Given the description of an element on the screen output the (x, y) to click on. 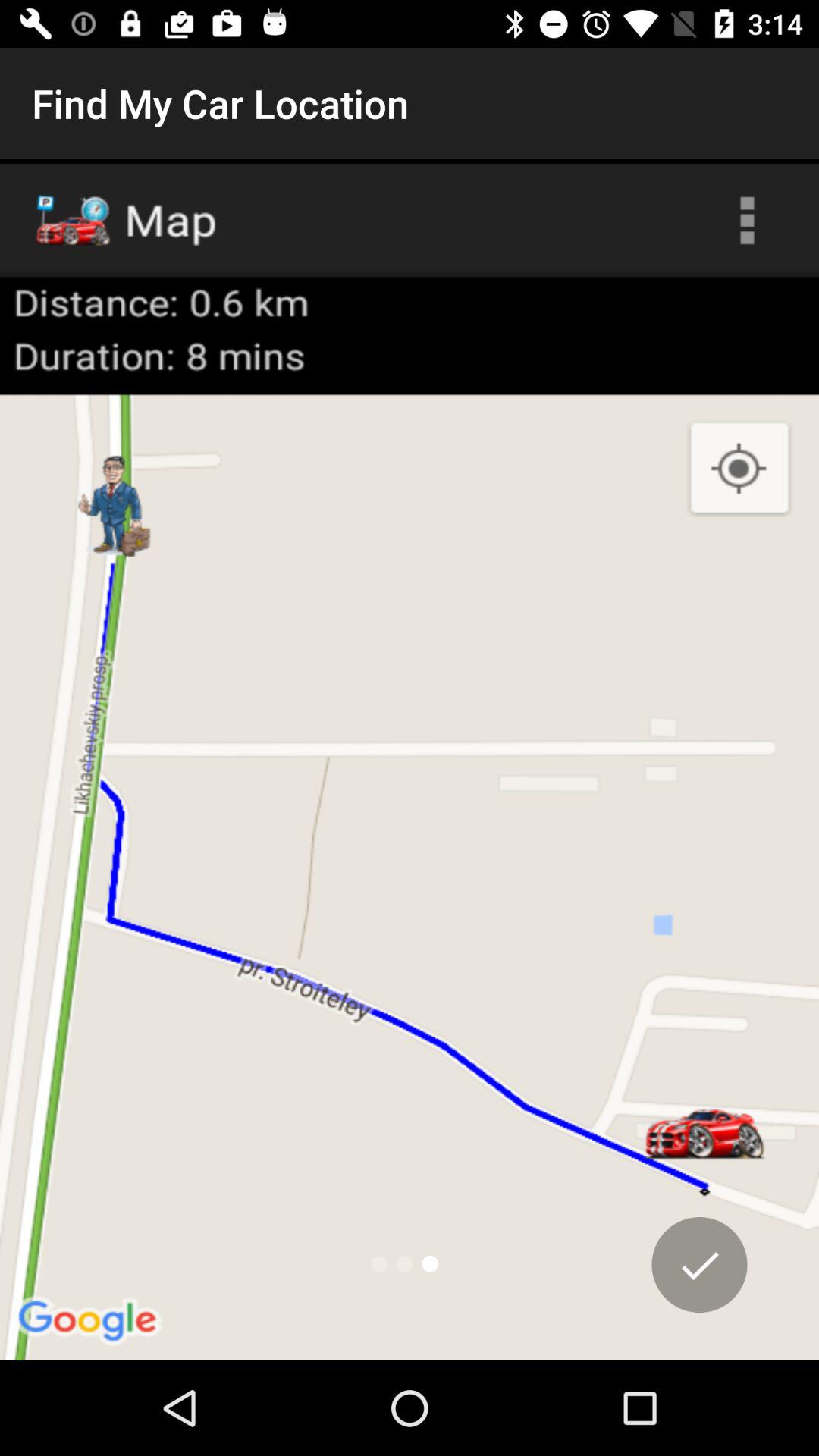
select option (699, 1264)
